Given the description of an element on the screen output the (x, y) to click on. 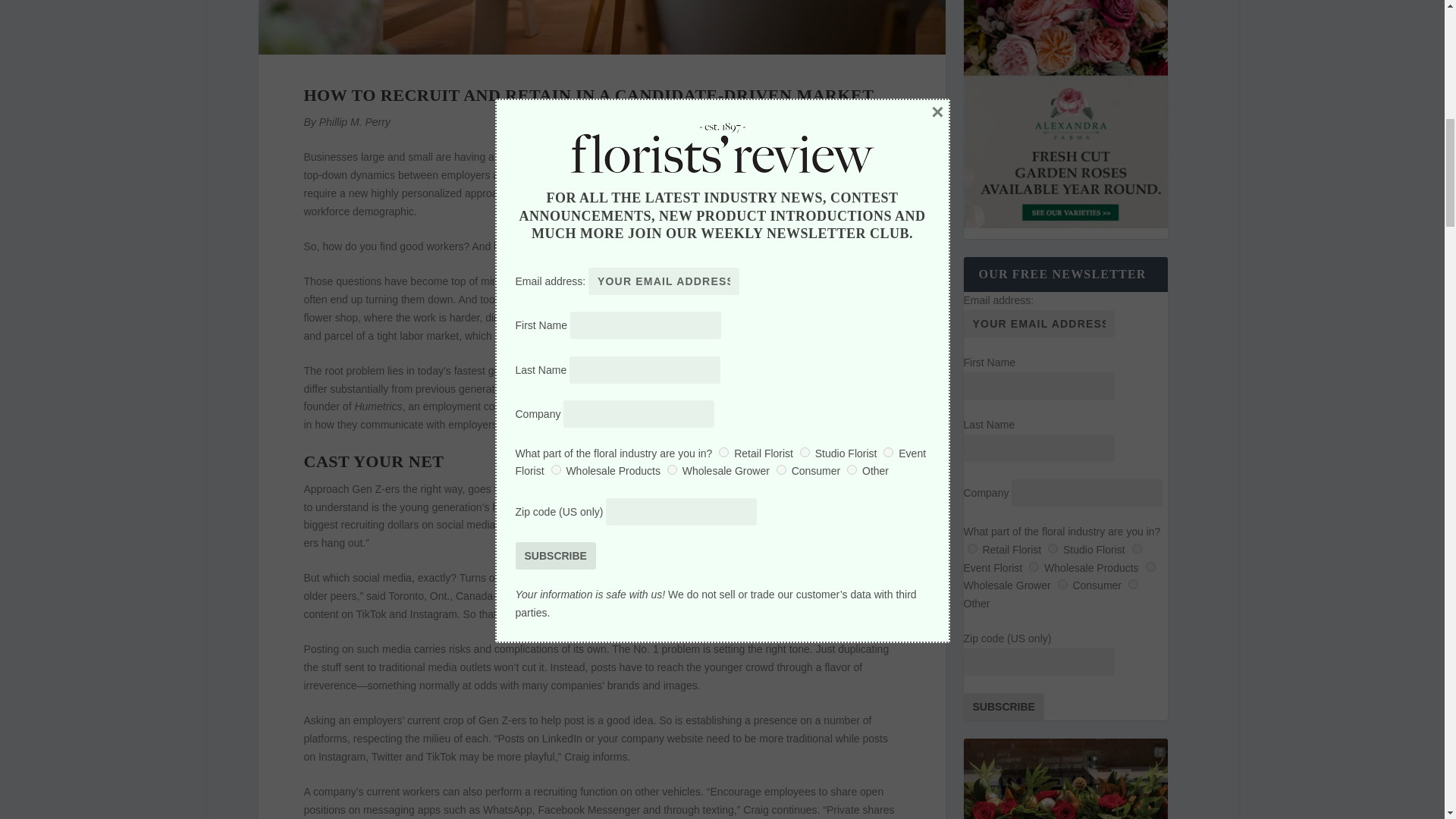
Retail Florist (972, 548)
